Given the description of an element on the screen output the (x, y) to click on. 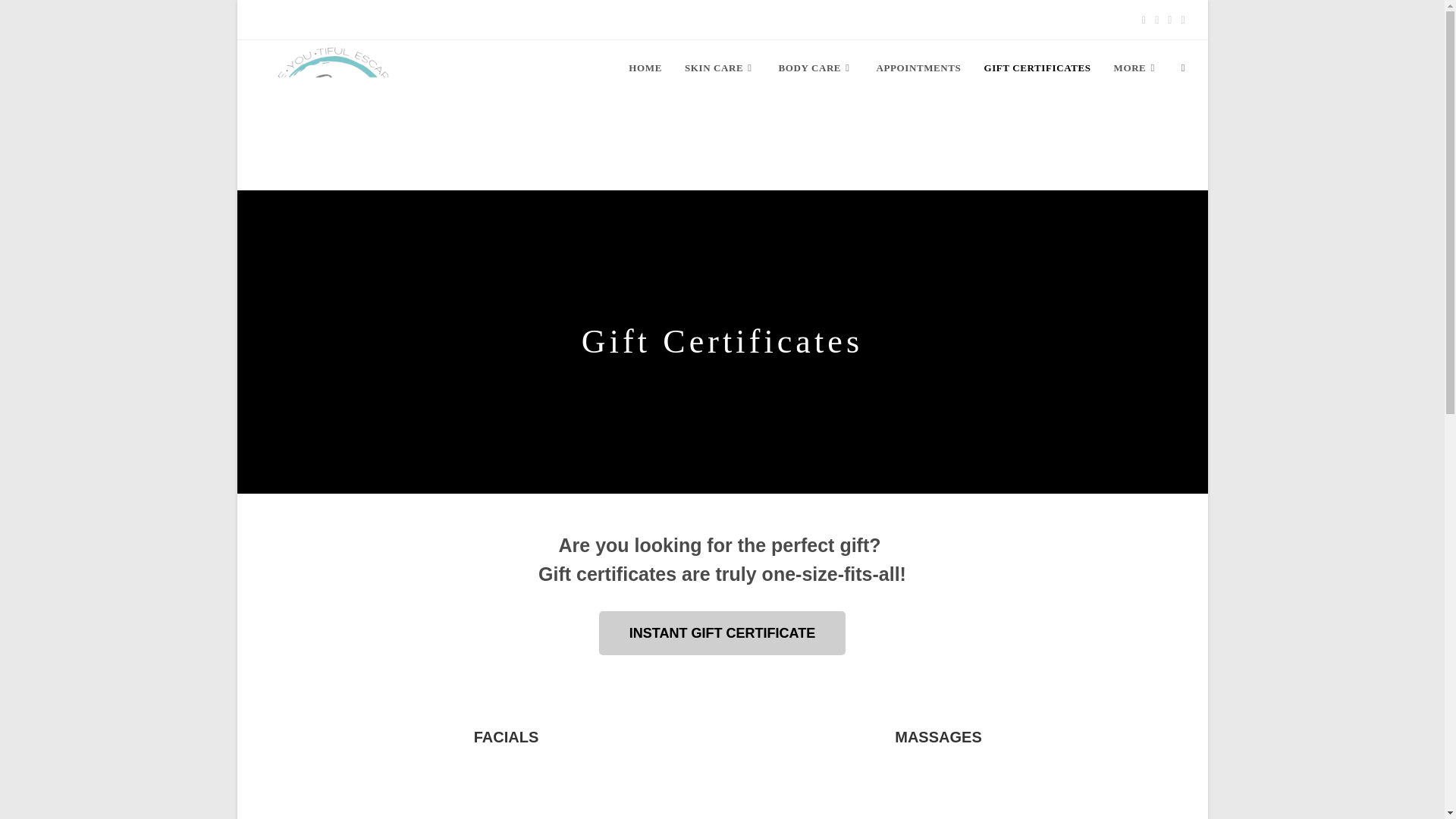
SKIN CARE (719, 68)
INSTANT GIFT CERTIFICATE (721, 632)
GIFT CERTIFICATES (1037, 68)
BODY CARE (815, 68)
HOME (644, 68)
MORE (1136, 68)
APPOINTMENTS (918, 68)
